Given the description of an element on the screen output the (x, y) to click on. 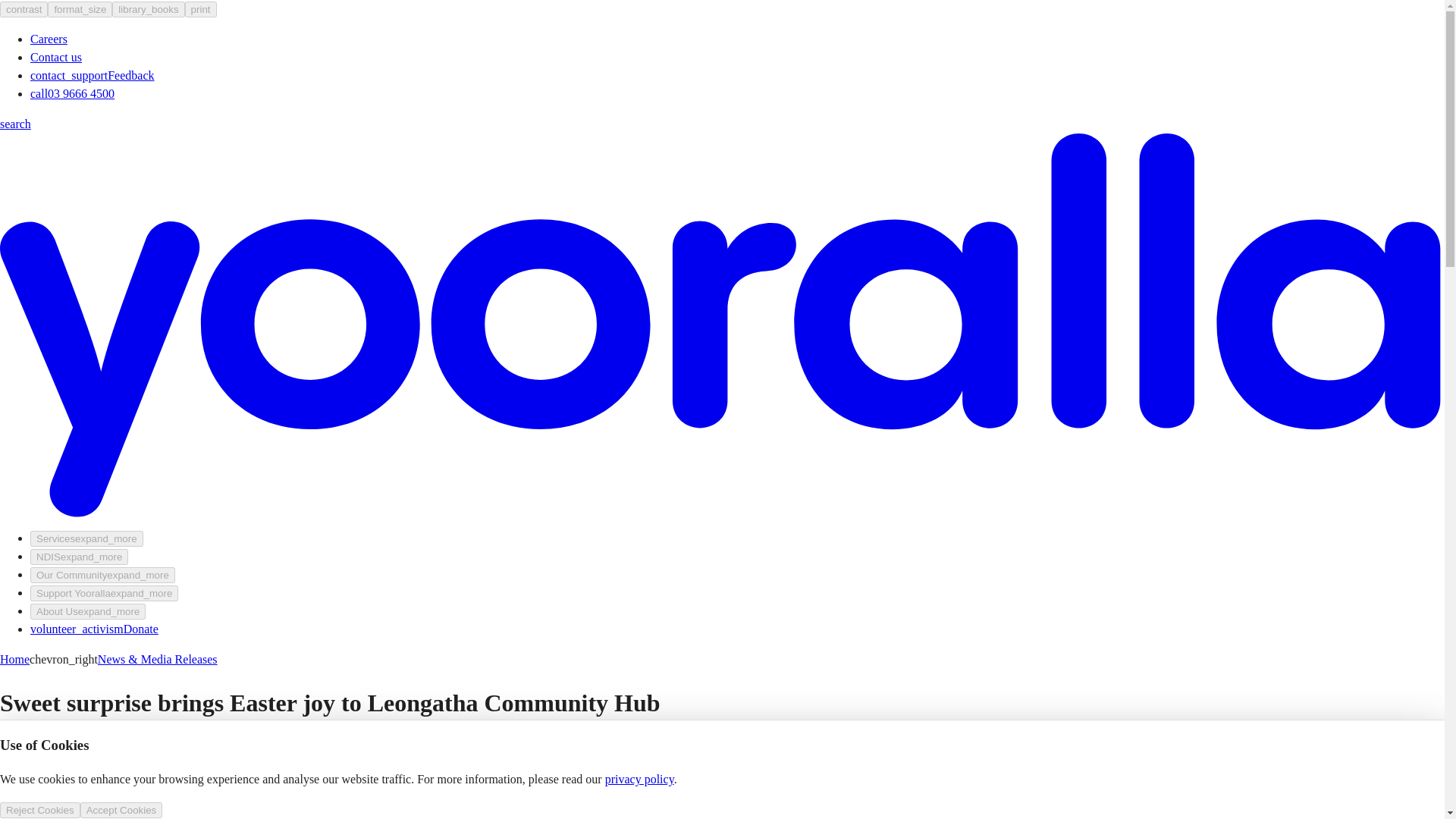
search (15, 123)
Contact us (55, 56)
Home (14, 658)
Careers (48, 38)
contrast (24, 9)
print (200, 9)
call03 9666 4500 (72, 92)
